Given the description of an element on the screen output the (x, y) to click on. 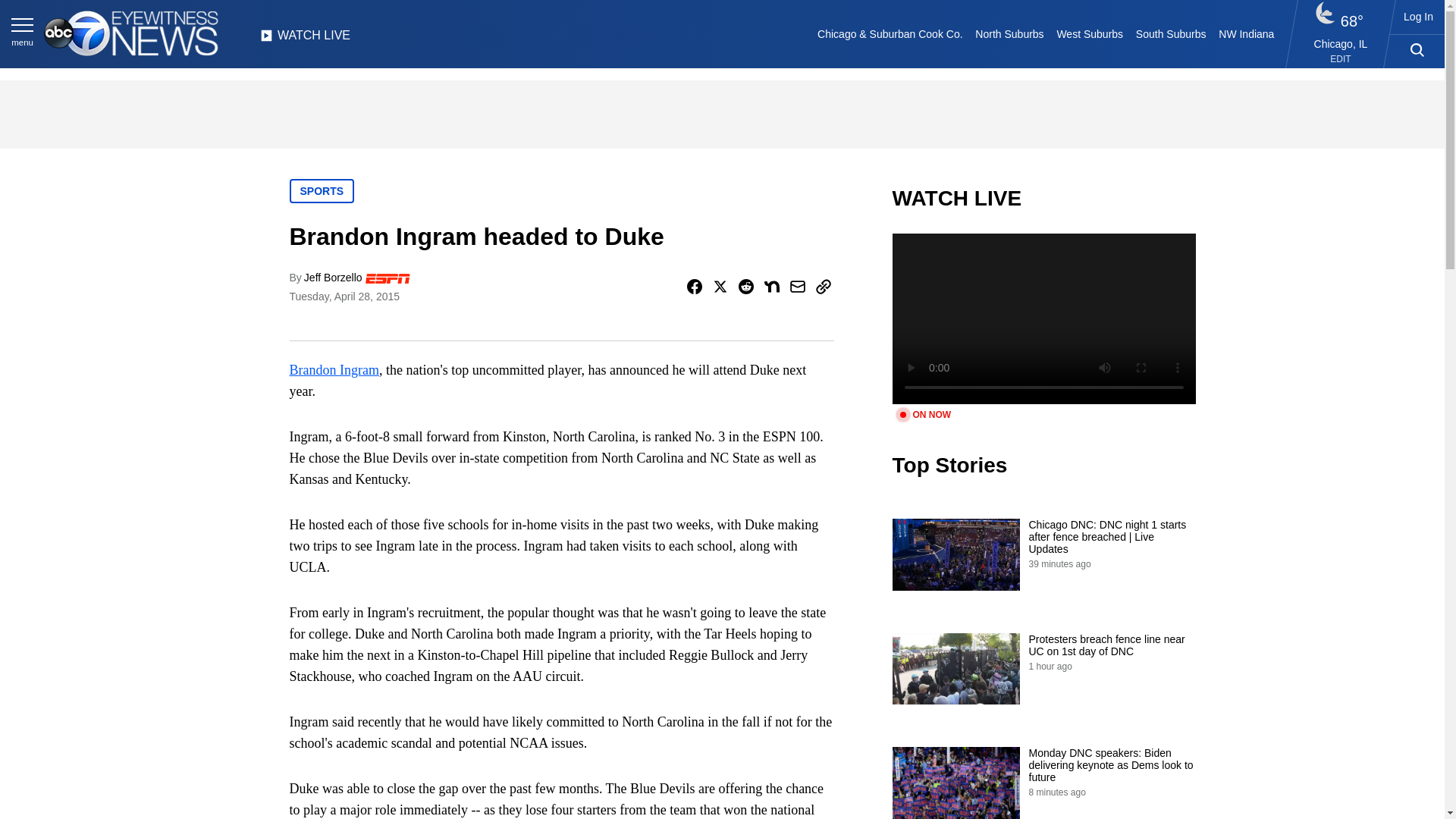
North Suburbs (1009, 33)
NW Indiana (1246, 33)
West Suburbs (1089, 33)
video.title (1043, 318)
Chicago, IL (1340, 43)
South Suburbs (1170, 33)
WATCH LIVE (305, 39)
EDIT (1340, 59)
